Given the description of an element on the screen output the (x, y) to click on. 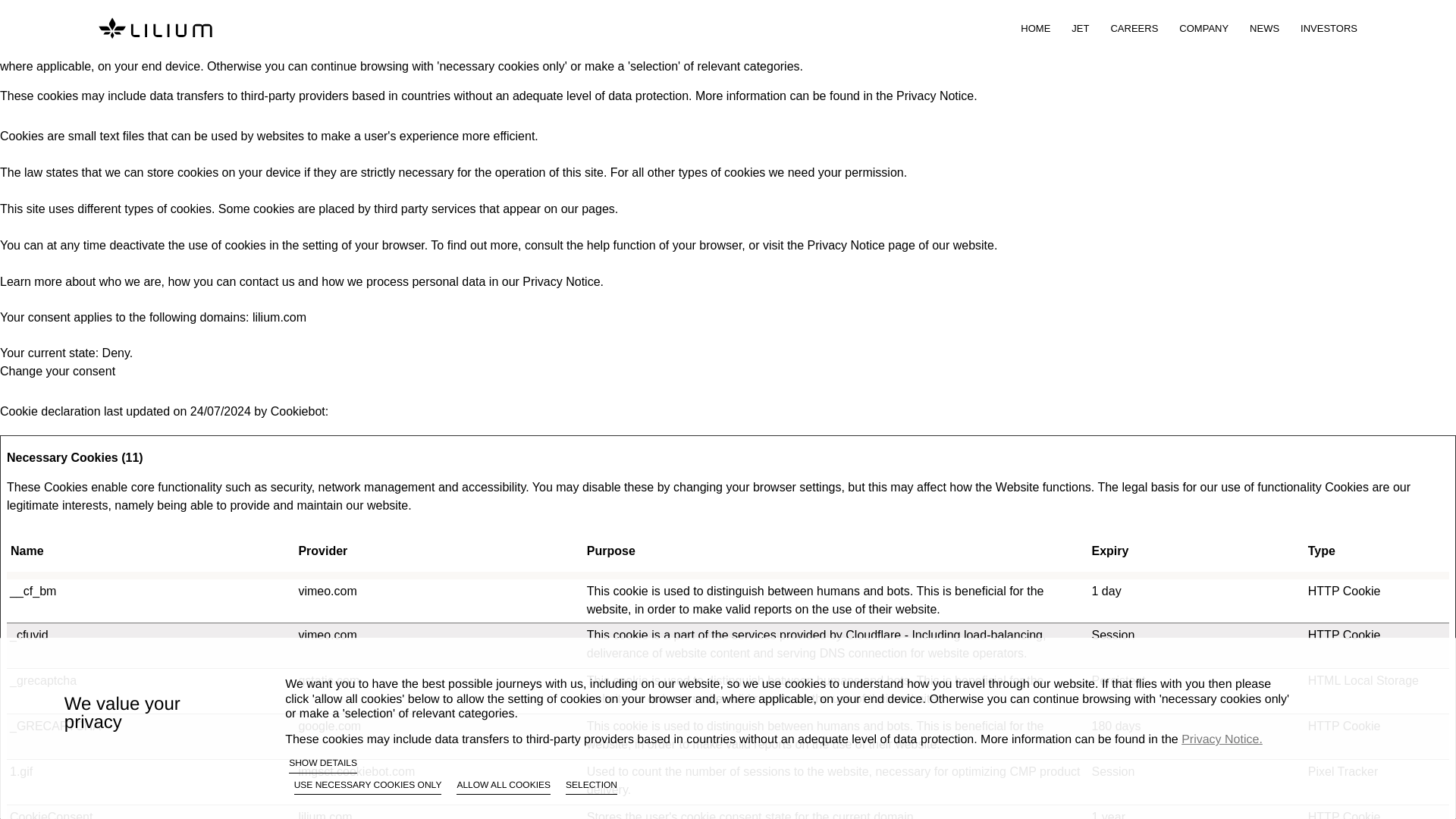
Cookiebot (297, 410)
Cookiebot (297, 410)
SELECTION (591, 786)
Privacy Notice. (936, 95)
Privacy Notice (846, 245)
Change your consent (57, 370)
USE NECESSARY COOKIES ONLY (368, 786)
Privacy Notice. (1221, 739)
ALLOW ALL COOKIES (503, 786)
Privacy Notice (560, 281)
SHOW DETAILS (322, 764)
